Given the description of an element on the screen output the (x, y) to click on. 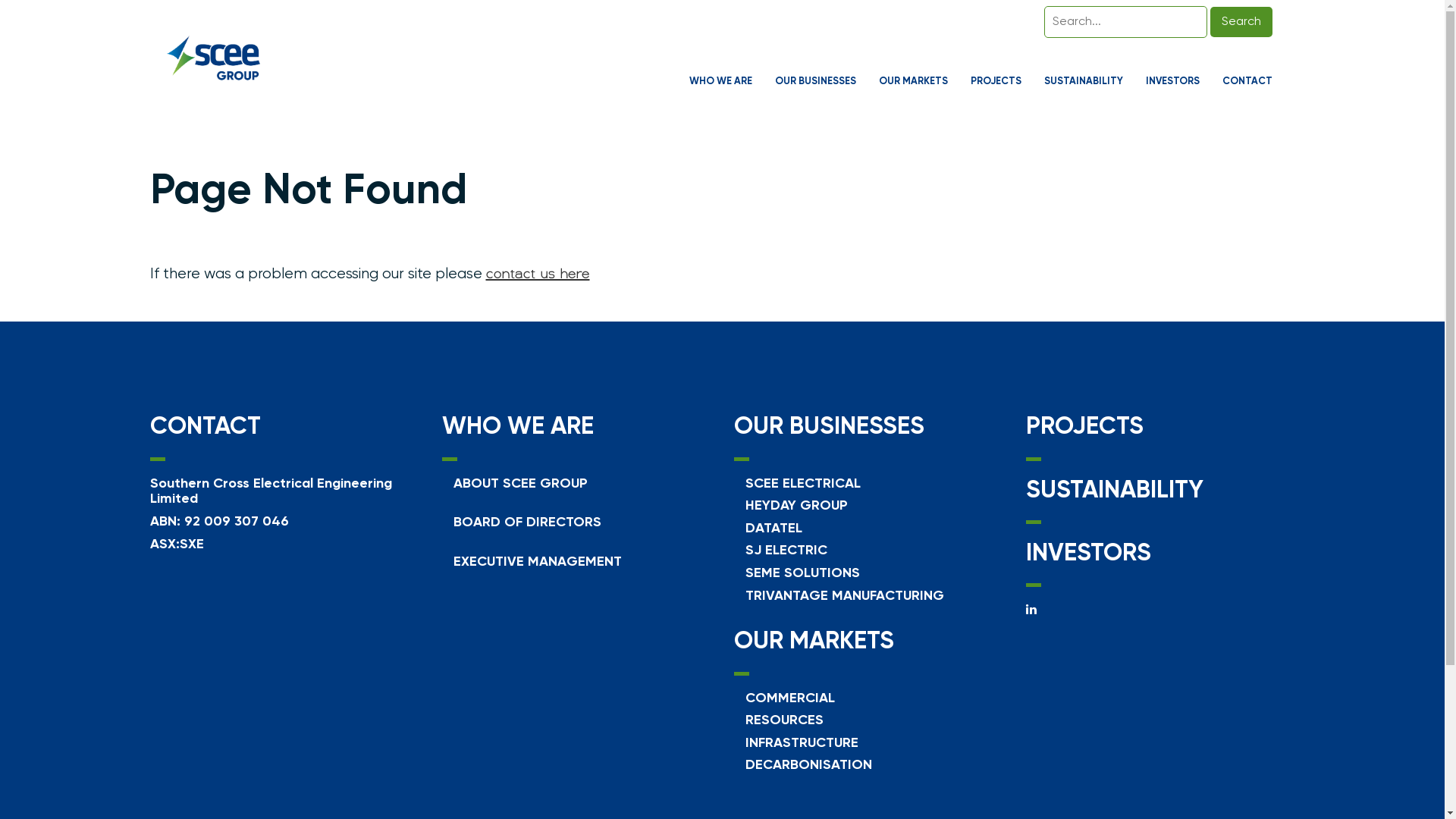
CONTACT Element type: text (205, 426)
SUSTAINABILITY Element type: text (1090, 81)
INVESTORS Element type: text (1179, 81)
CONTACT Element type: text (1254, 81)
SUSTAINABILITY Element type: text (1113, 490)
WHO WE ARE Element type: text (517, 426)
INVESTORS Element type: text (1087, 553)
HEYDAY GROUP Element type: text (795, 505)
SEME SOLUTIONS Element type: text (801, 573)
OUR BUSINESSES Element type: text (829, 426)
DATATEL Element type: text (772, 528)
SCEE ELECTRICAL Element type: text (801, 483)
contact us here Element type: text (537, 273)
EXECUTIVE MANAGEMENT Element type: text (537, 561)
COMMERCIAL Element type: text (789, 698)
PROJECTS Element type: text (1083, 426)
SJ ELECTRIC Element type: text (785, 550)
TRIVANTAGE MANUFACTURING Element type: text (843, 595)
RESOURCES Element type: text (783, 720)
PROJECTS Element type: text (1003, 81)
OUR MARKETS Element type: text (920, 81)
OUR BUSINESSES Element type: text (823, 81)
WHO WE ARE Element type: text (727, 81)
INFRASTRUCTURE Element type: text (800, 742)
OUR MARKETS Element type: text (814, 641)
BOARD OF DIRECTORS Element type: text (527, 522)
ABOUT SCEE GROUP Element type: text (520, 483)
DECARBONISATION Element type: text (807, 764)
Search Element type: text (1241, 21)
